Given the description of an element on the screen output the (x, y) to click on. 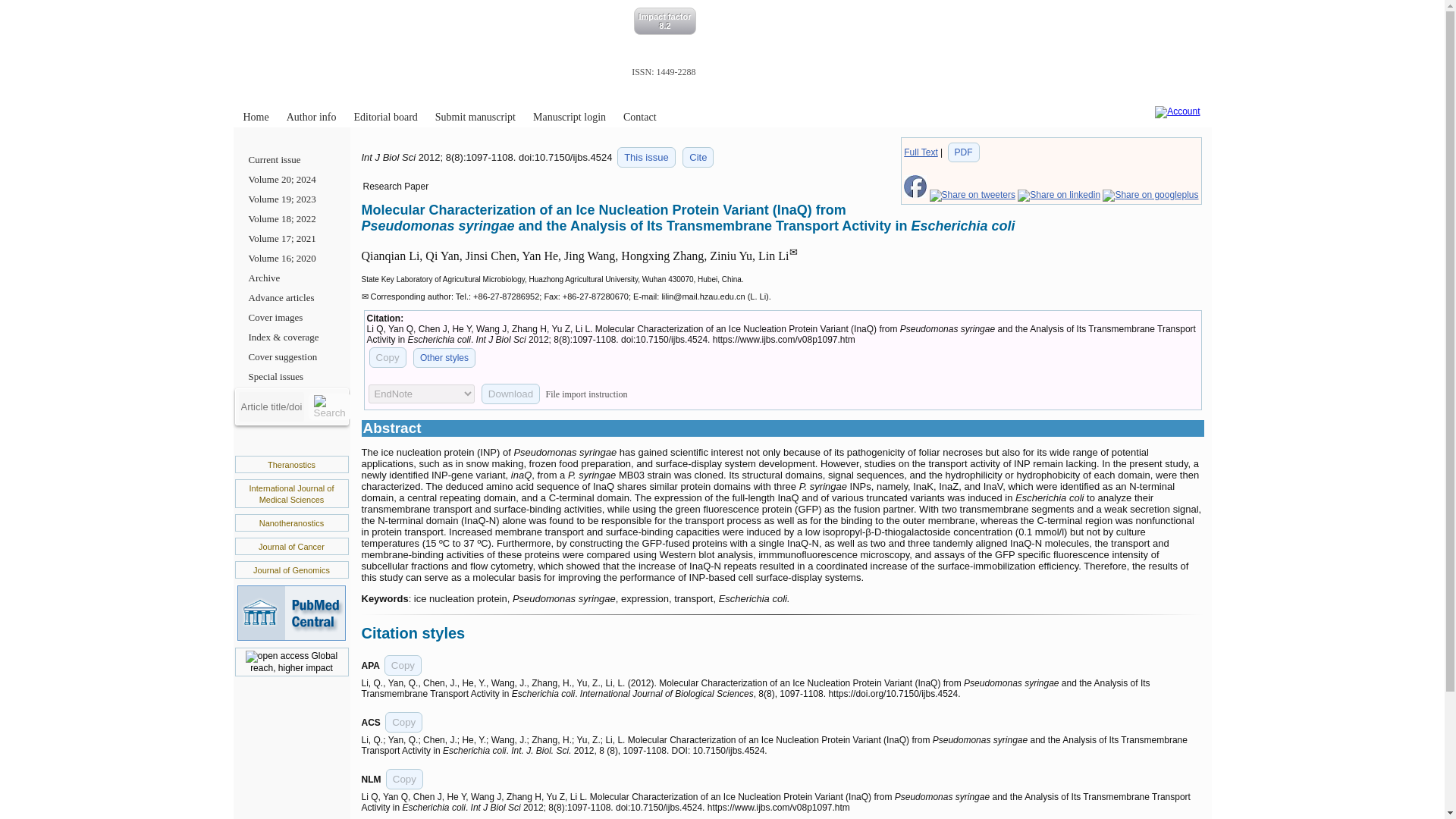
Volume 16; 2020 (291, 258)
Journal of Genomics (291, 569)
Copy to clipboard (387, 357)
Contact (639, 117)
Archive (291, 278)
Copy to clipboard (403, 665)
Other citation styles eg. ACS APA (444, 357)
Search article by title or doi (328, 406)
Nanotheranostics (291, 522)
Share on tweeters (972, 194)
